Given the description of an element on the screen output the (x, y) to click on. 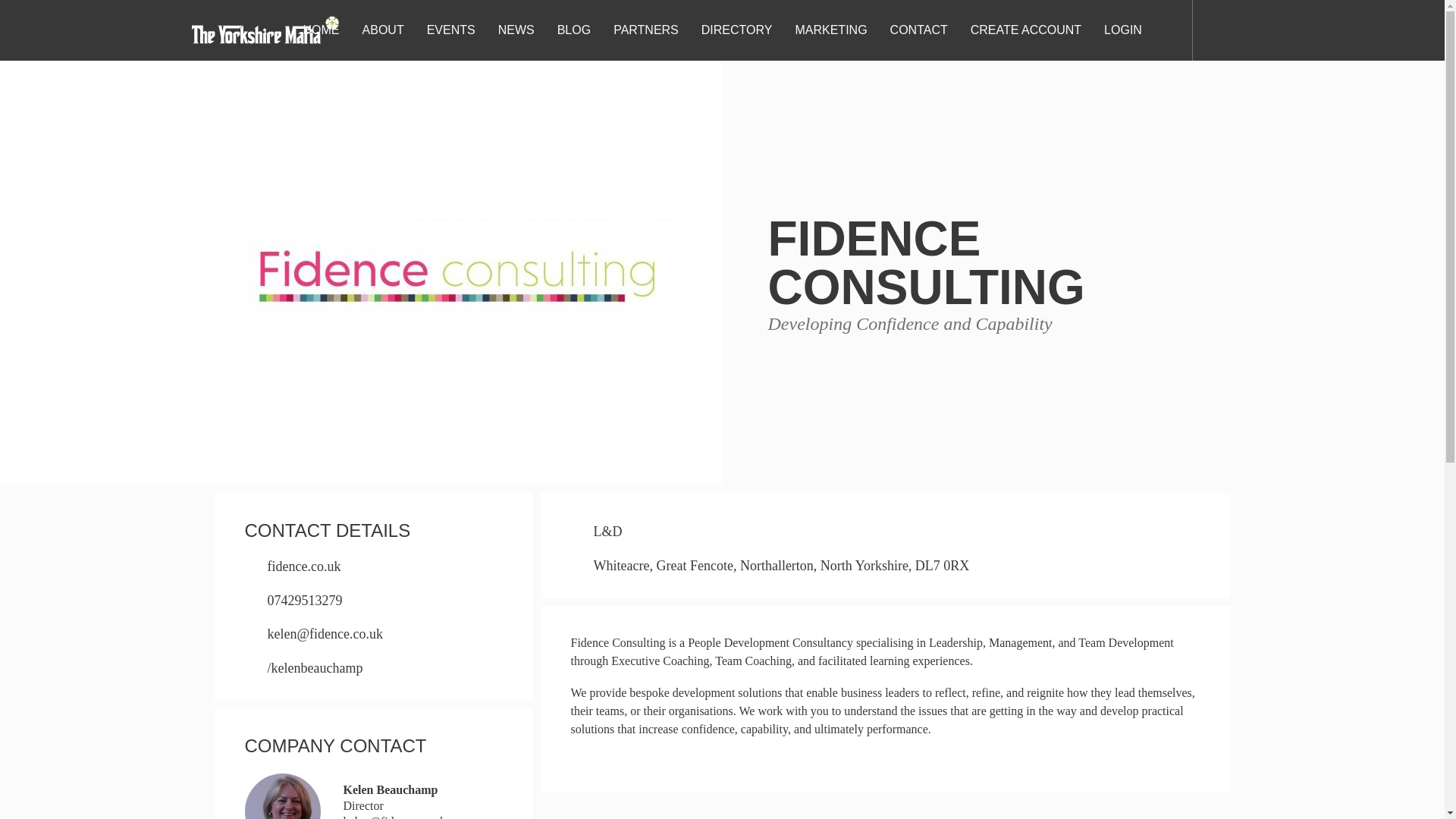
CONTACT (919, 28)
PARTNERS (646, 28)
NEWS (516, 28)
DIRECTORY (736, 28)
CREATE ACCOUNT (1025, 28)
HOME (321, 28)
BLOG (573, 28)
LOGIN (1122, 28)
EVENTS (450, 28)
MARKETING (830, 28)
